Given the description of an element on the screen output the (x, y) to click on. 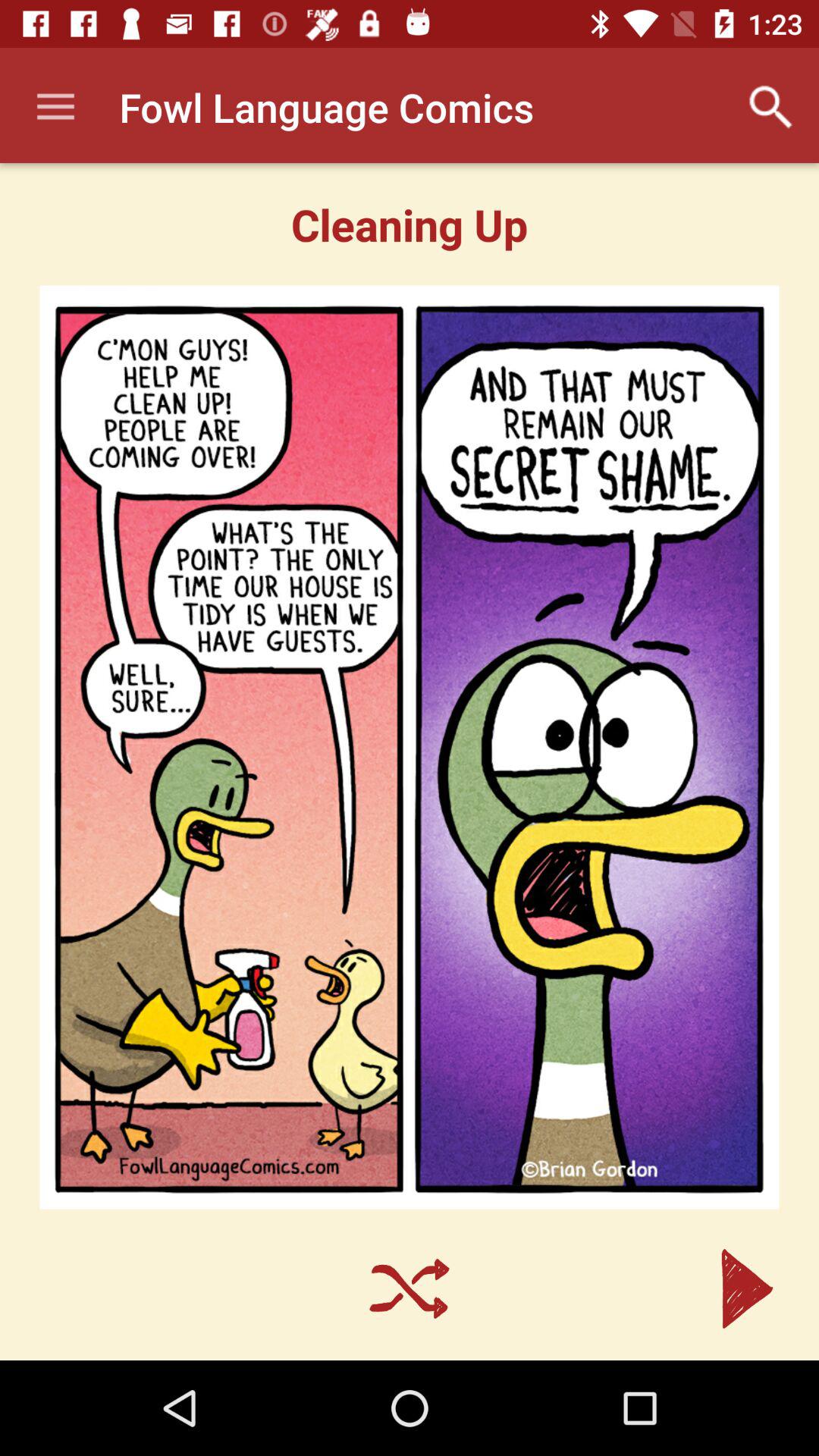
select item at the top left corner (55, 107)
